Given the description of an element on the screen output the (x, y) to click on. 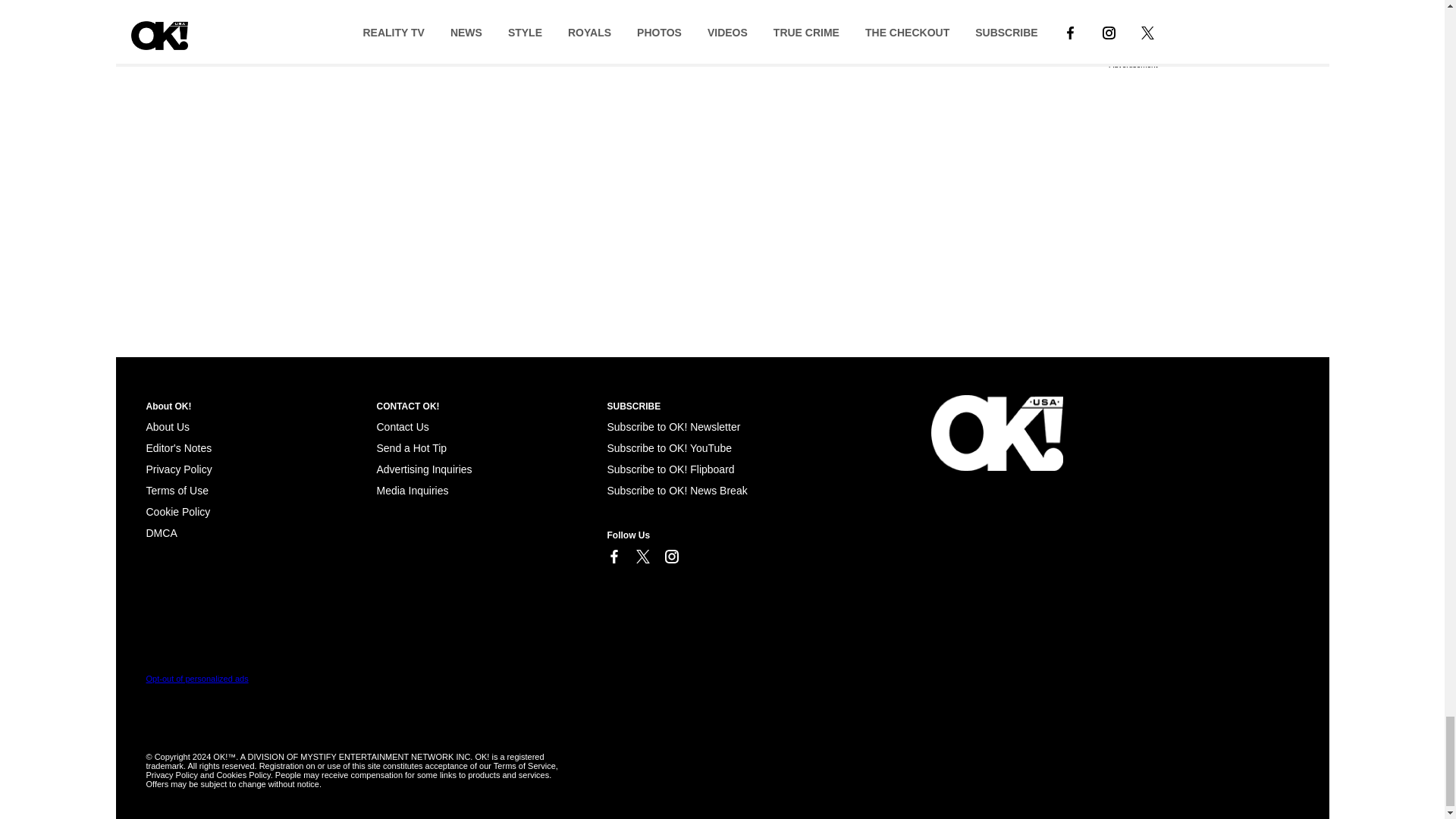
Cookie Policy (177, 511)
Media Inquiries (411, 490)
Link to Facebook (613, 556)
About Us (167, 426)
Send a Hot Tip (410, 448)
Contact Us (401, 426)
Link to Instagram (670, 556)
Link to X (641, 556)
Cookie Policy (160, 532)
Editor's Notes (178, 448)
Privacy Policy (178, 469)
Terms of Use (176, 490)
Advertising Inquiries (423, 469)
